Given the description of an element on the screen output the (x, y) to click on. 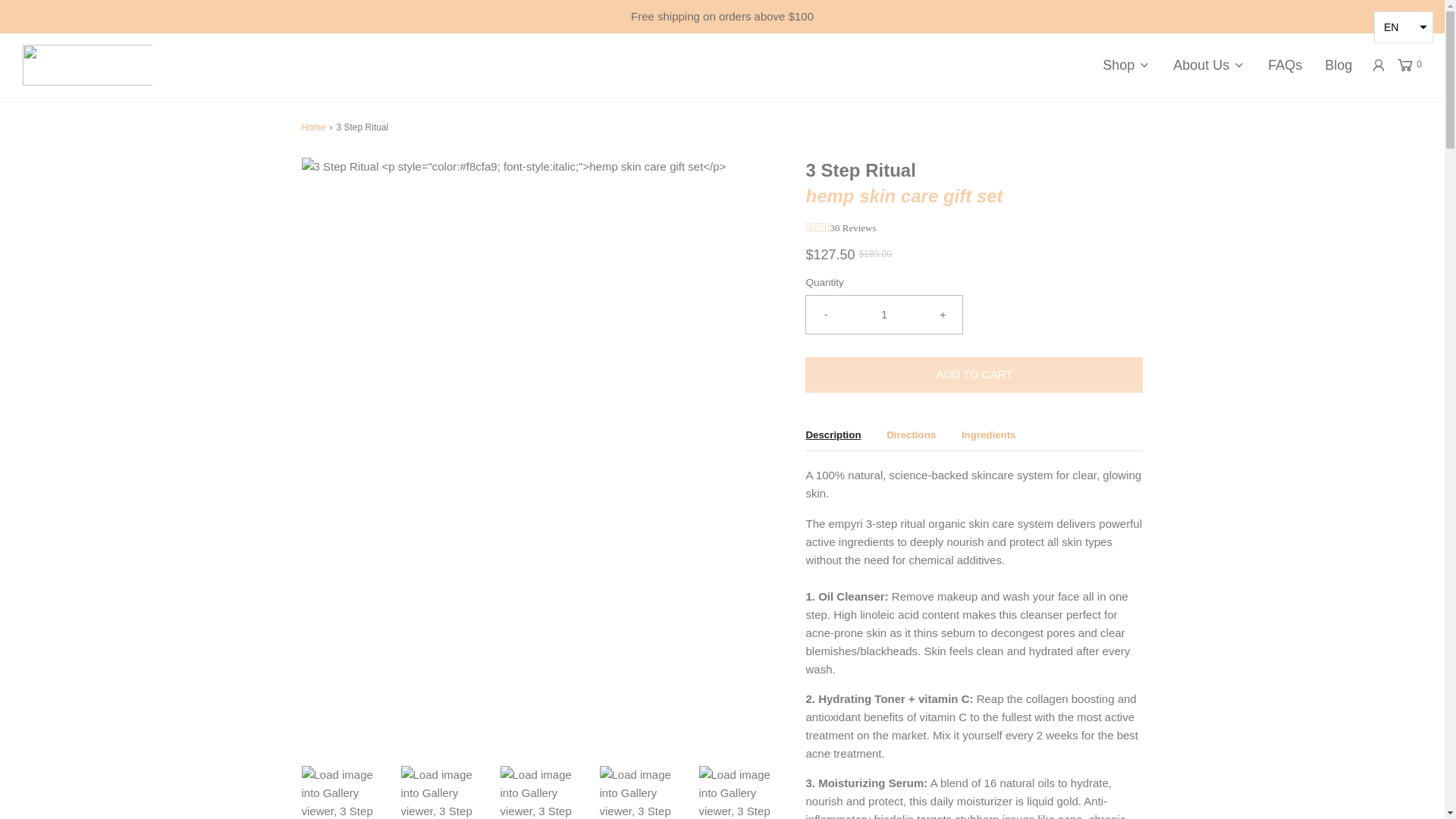
- (825, 314)
Log in (1378, 64)
0 (1409, 64)
Back to the frontpage (315, 127)
Home (315, 127)
30 Reviews (852, 228)
FAQs (1284, 65)
Shop (1126, 65)
About Us (1208, 65)
Cart (1409, 64)
